Given the description of an element on the screen output the (x, y) to click on. 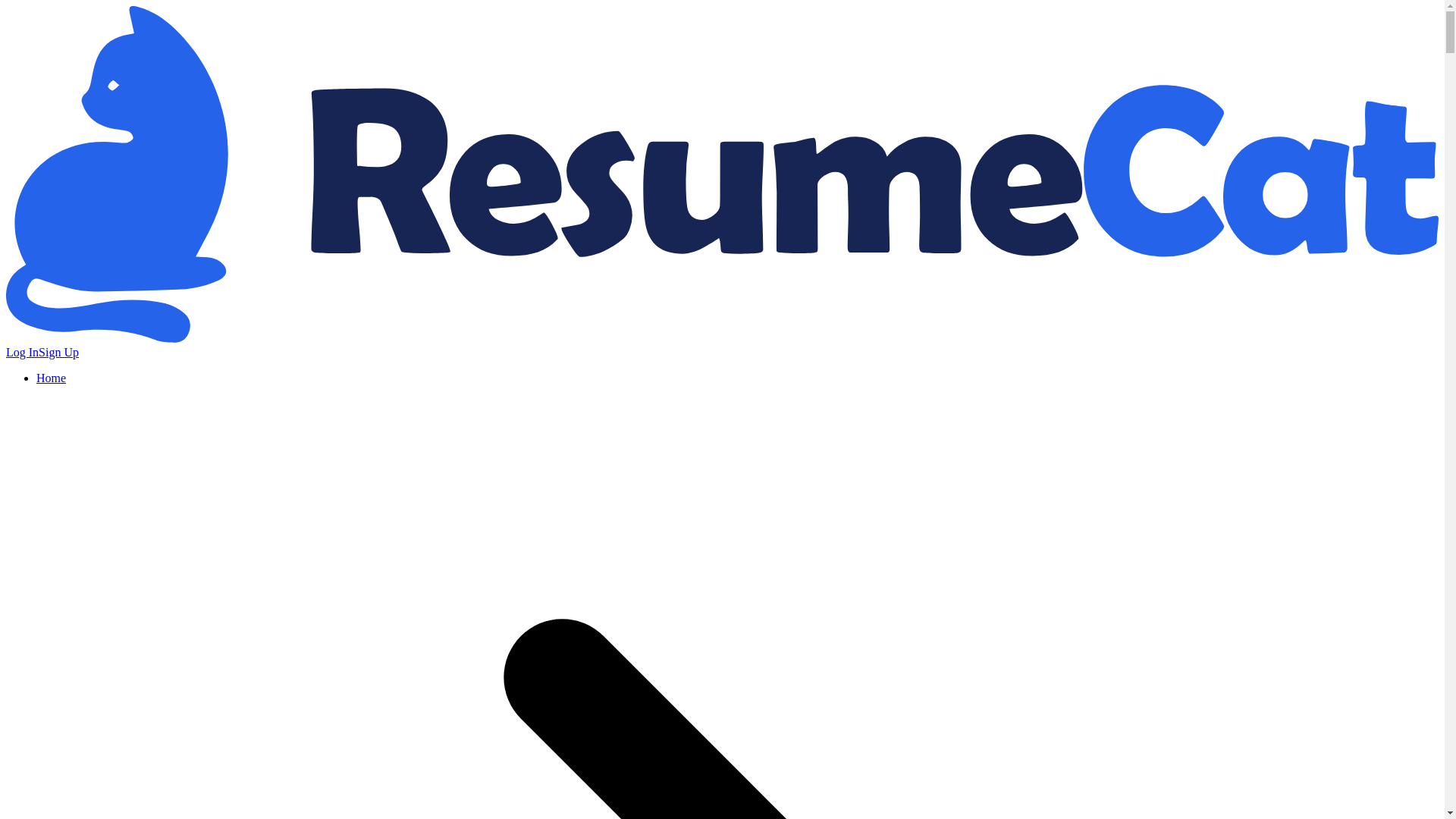
Home (50, 377)
Sign Up (58, 351)
Log In (22, 351)
